Given the description of an element on the screen output the (x, y) to click on. 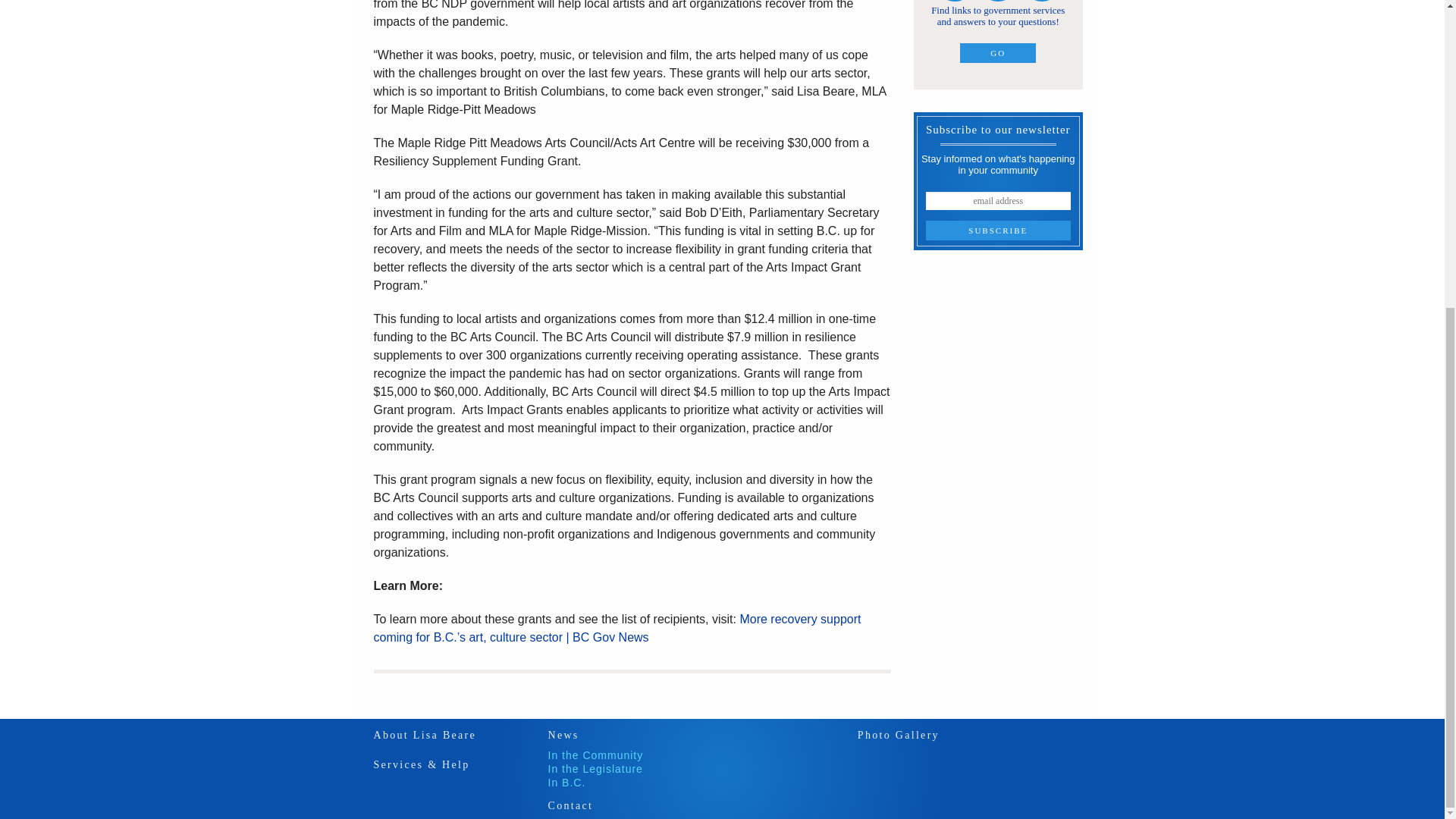
View all posts filed under In B.C. (566, 782)
Subscribe (998, 230)
GO (997, 53)
In B.C. (566, 782)
View all posts filed under From the Legislature (594, 768)
View all posts filed under In the Constituency (595, 755)
Subscribe (998, 230)
About Lisa Beare (424, 735)
In the Community (595, 755)
